Given the description of an element on the screen output the (x, y) to click on. 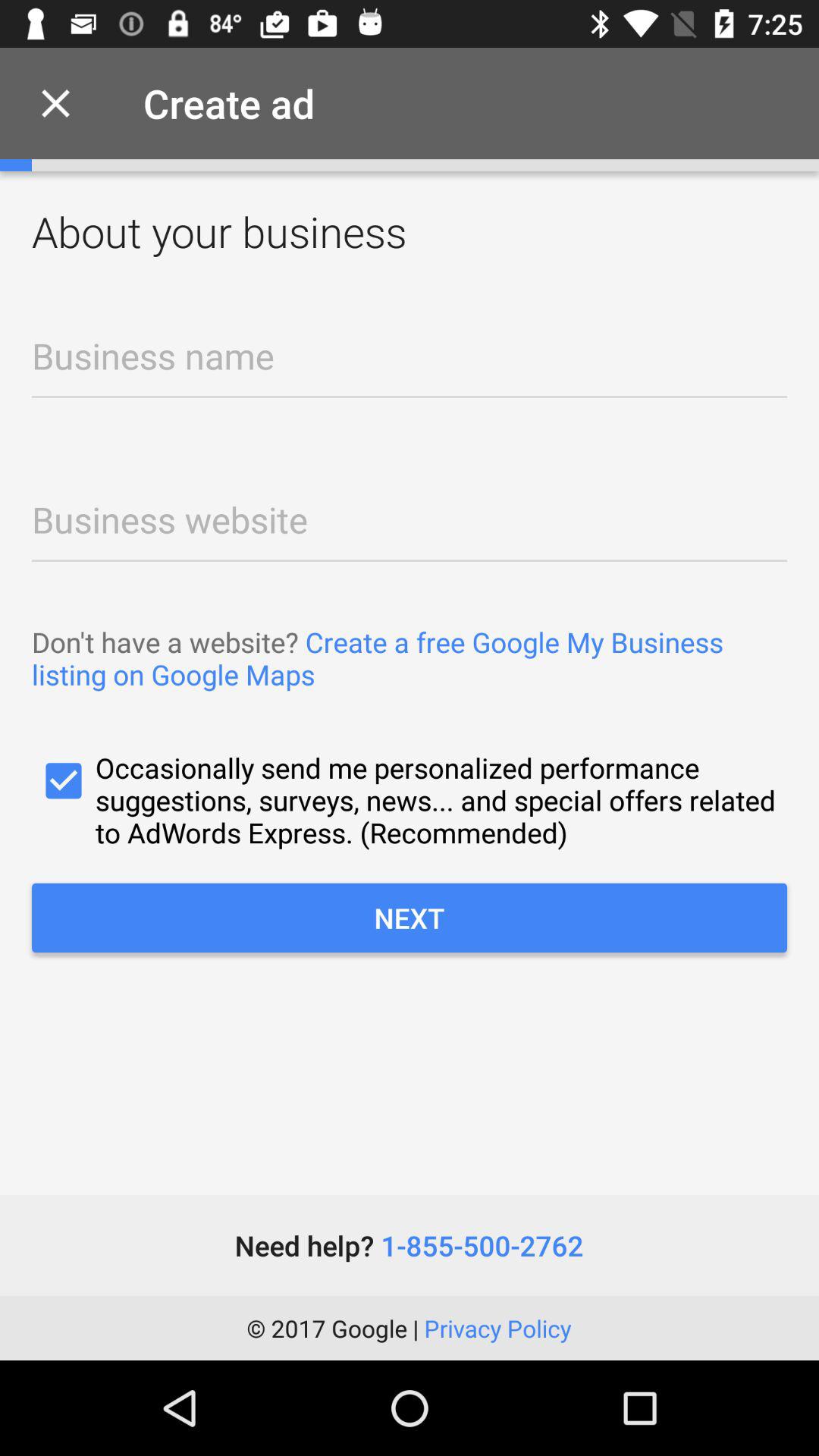
launch the item above 2017 google privacy item (408, 1245)
